Given the description of an element on the screen output the (x, y) to click on. 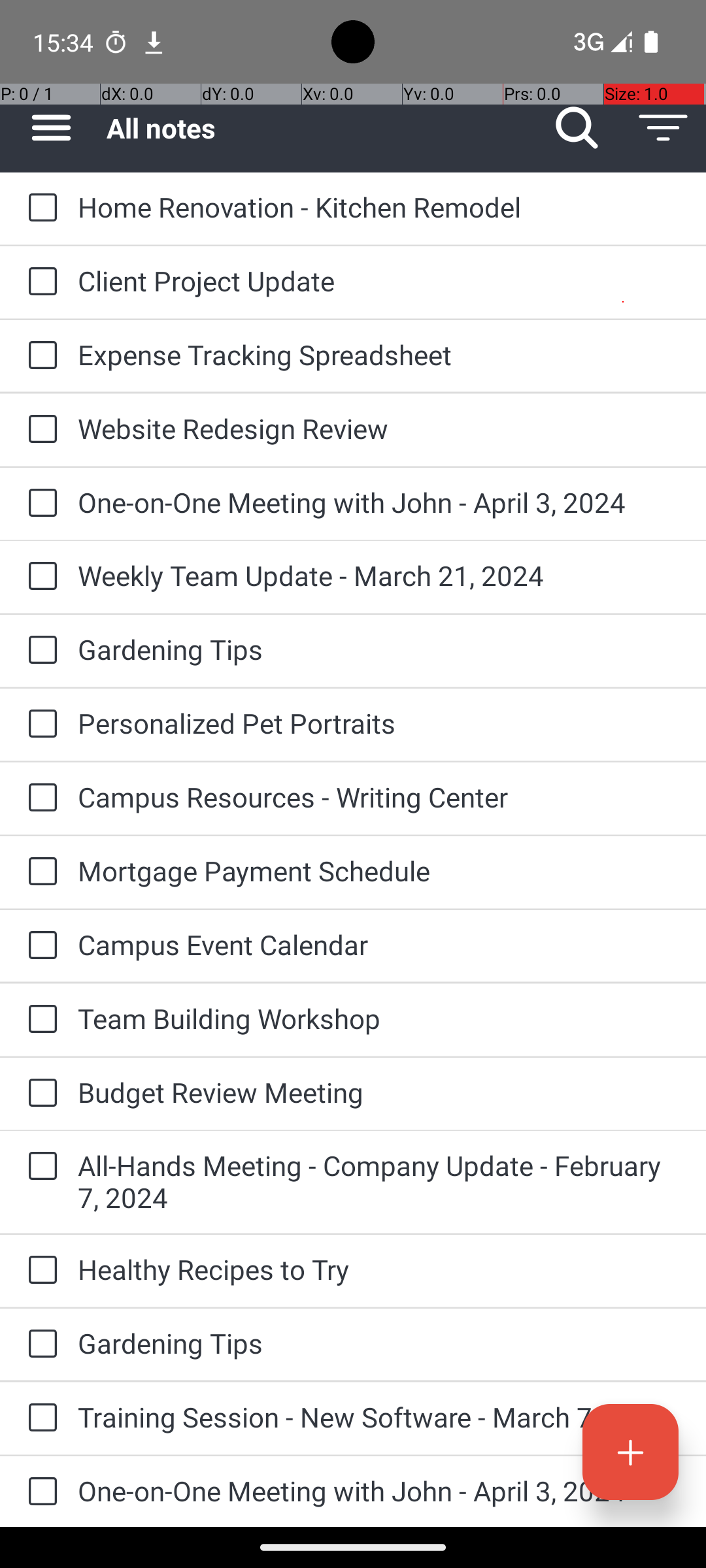
to-do: Home Renovation - Kitchen Remodel Element type: android.widget.CheckBox (38, 208)
Home Renovation - Kitchen Remodel Element type: android.widget.TextView (378, 206)
to-do: Expense Tracking Spreadsheet Element type: android.widget.CheckBox (38, 356)
to-do: Website Redesign Review Element type: android.widget.CheckBox (38, 429)
Website Redesign Review Element type: android.widget.TextView (378, 427)
to-do: One-on-One Meeting with John - April 3, 2024 Element type: android.widget.CheckBox (38, 503)
to-do: Weekly Team Update - March 21, 2024 Element type: android.widget.CheckBox (38, 576)
Weekly Team Update - March 21, 2024 Element type: android.widget.TextView (378, 574)
to-do: Gardening Tips Element type: android.widget.CheckBox (38, 650)
to-do: Personalized Pet Portraits Element type: android.widget.CheckBox (38, 724)
Personalized Pet Portraits Element type: android.widget.TextView (378, 722)
to-do: Campus Resources - Writing Center Element type: android.widget.CheckBox (38, 798)
Campus Resources - Writing Center Element type: android.widget.TextView (378, 796)
to-do: Team Building Workshop Element type: android.widget.CheckBox (38, 1019)
Team Building Workshop Element type: android.widget.TextView (378, 1017)
to-do: Healthy Recipes to Try Element type: android.widget.CheckBox (38, 1270)
Healthy Recipes to Try Element type: android.widget.TextView (378, 1268)
to-do: Training Session - New Software - March 7, 2024 Element type: android.widget.CheckBox (38, 1418)
Training Session - New Software - March 7, 2024 Element type: android.widget.TextView (378, 1416)
